Given the description of an element on the screen output the (x, y) to click on. 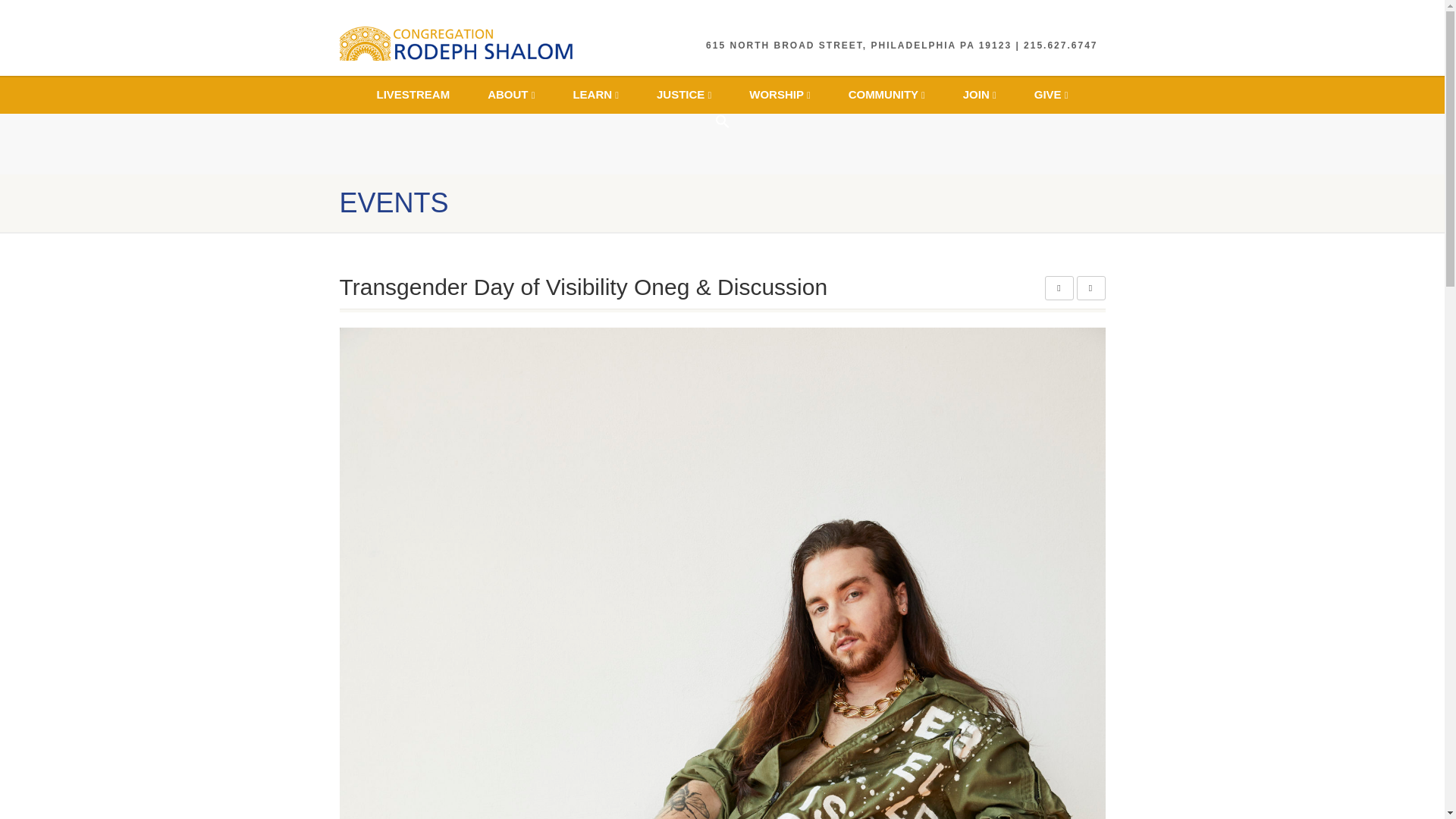
JUSTICE (683, 94)
Logo (459, 43)
LIVESTREAM (412, 94)
WORSHIP (779, 94)
ABOUT (510, 94)
LEARN (595, 94)
